Given the description of an element on the screen output the (x, y) to click on. 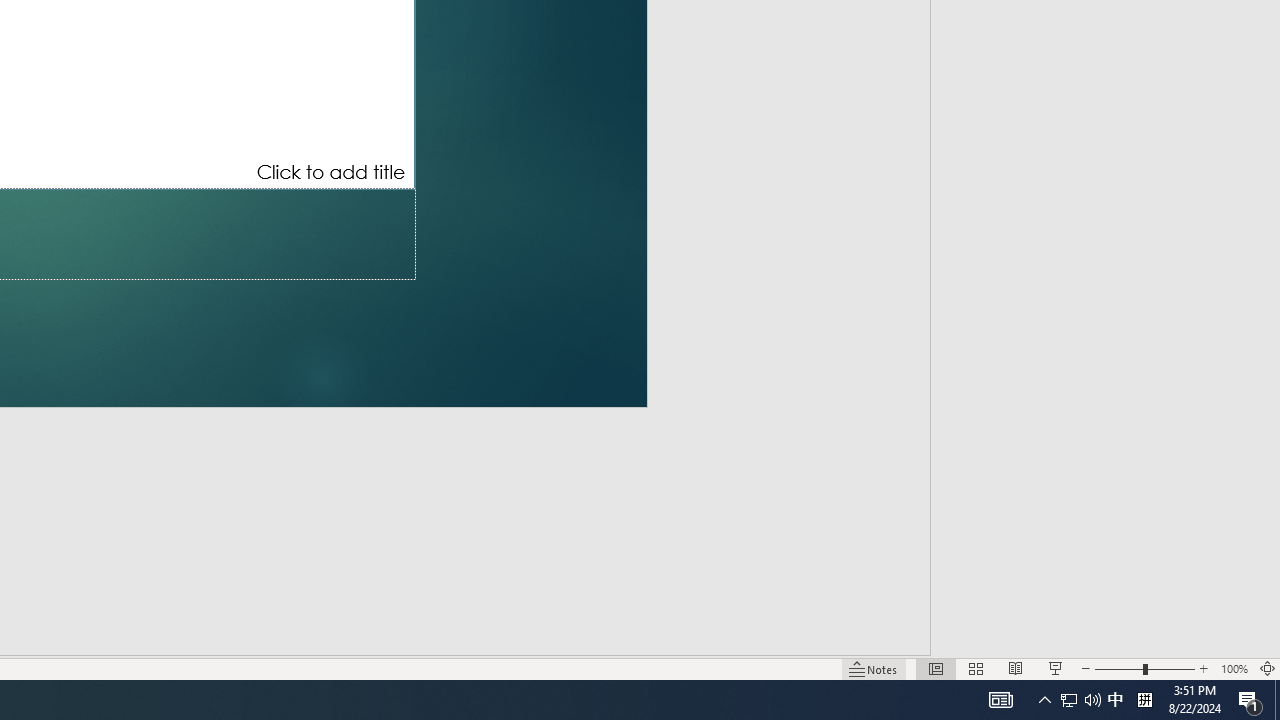
Zoom 100% (1234, 668)
